Given the description of an element on the screen output the (x, y) to click on. 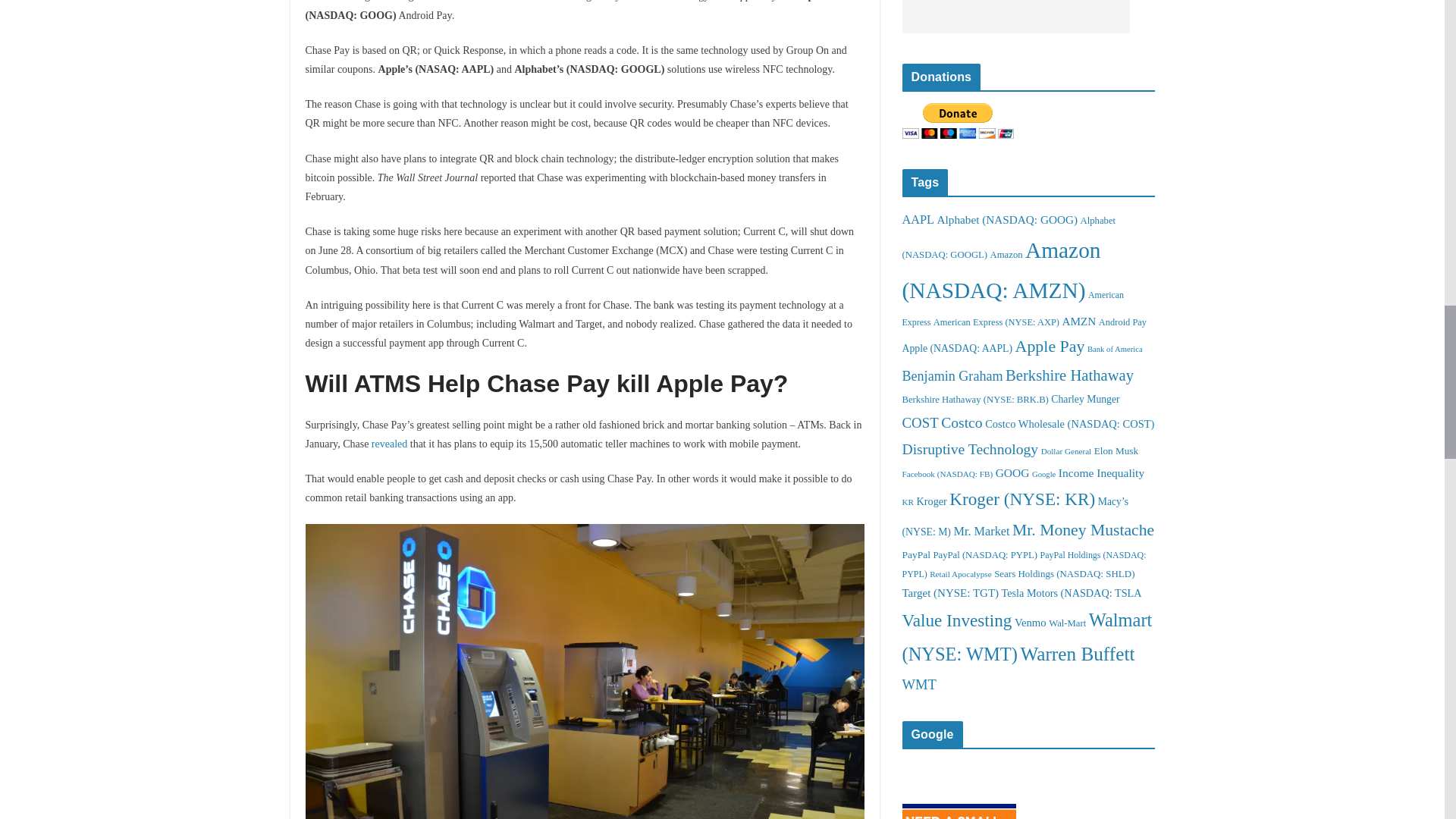
revealed (389, 443)
